Given the description of an element on the screen output the (x, y) to click on. 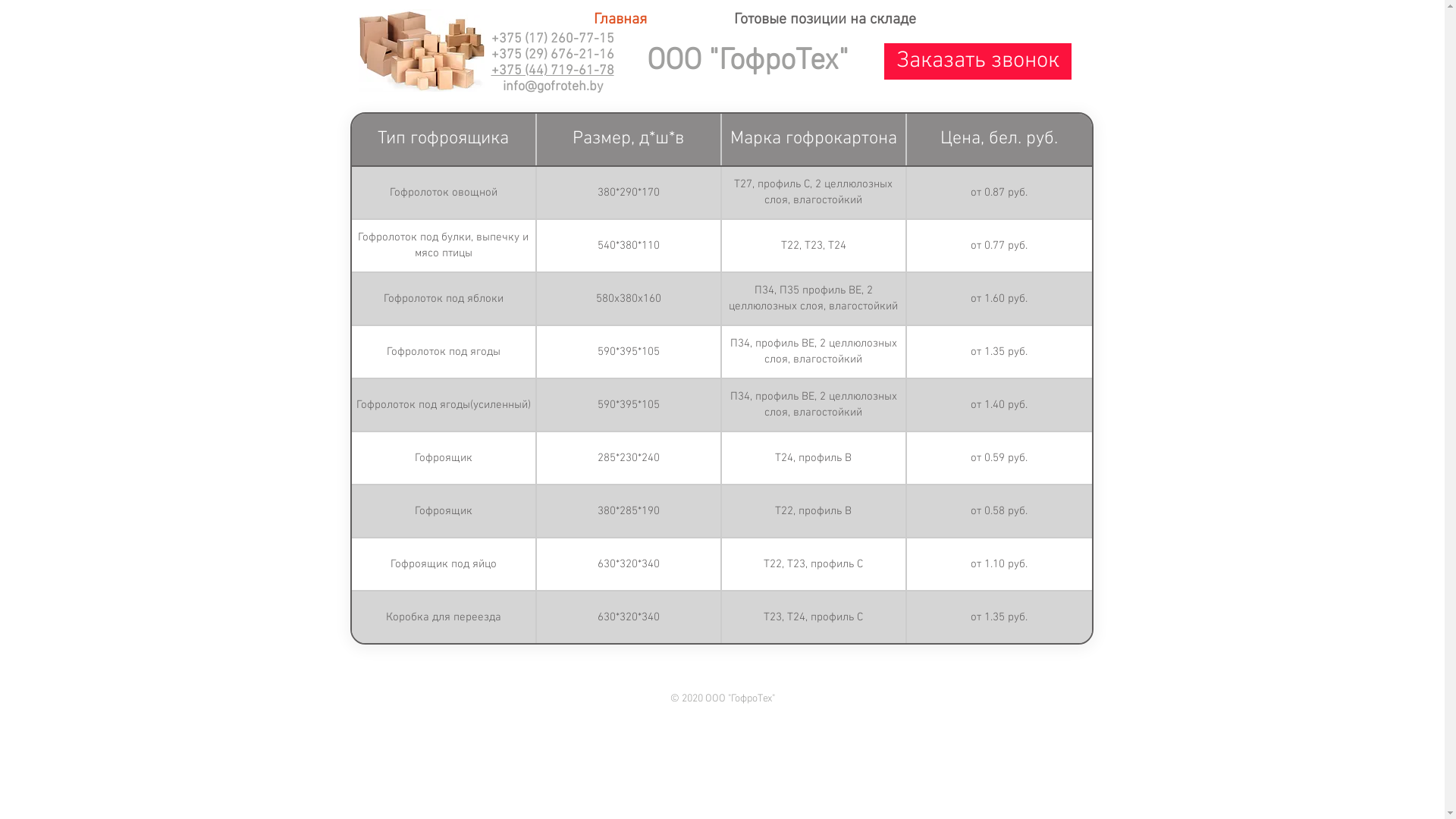
info@gofroteh.by Element type: text (552, 86)
+375 (17) 260-77-15 Element type: text (552, 39)
+375 (44) 719-61-78 Element type: text (552, 70)
+375 (29) 676-21-16 Element type: text (552, 54)
